Given the description of an element on the screen output the (x, y) to click on. 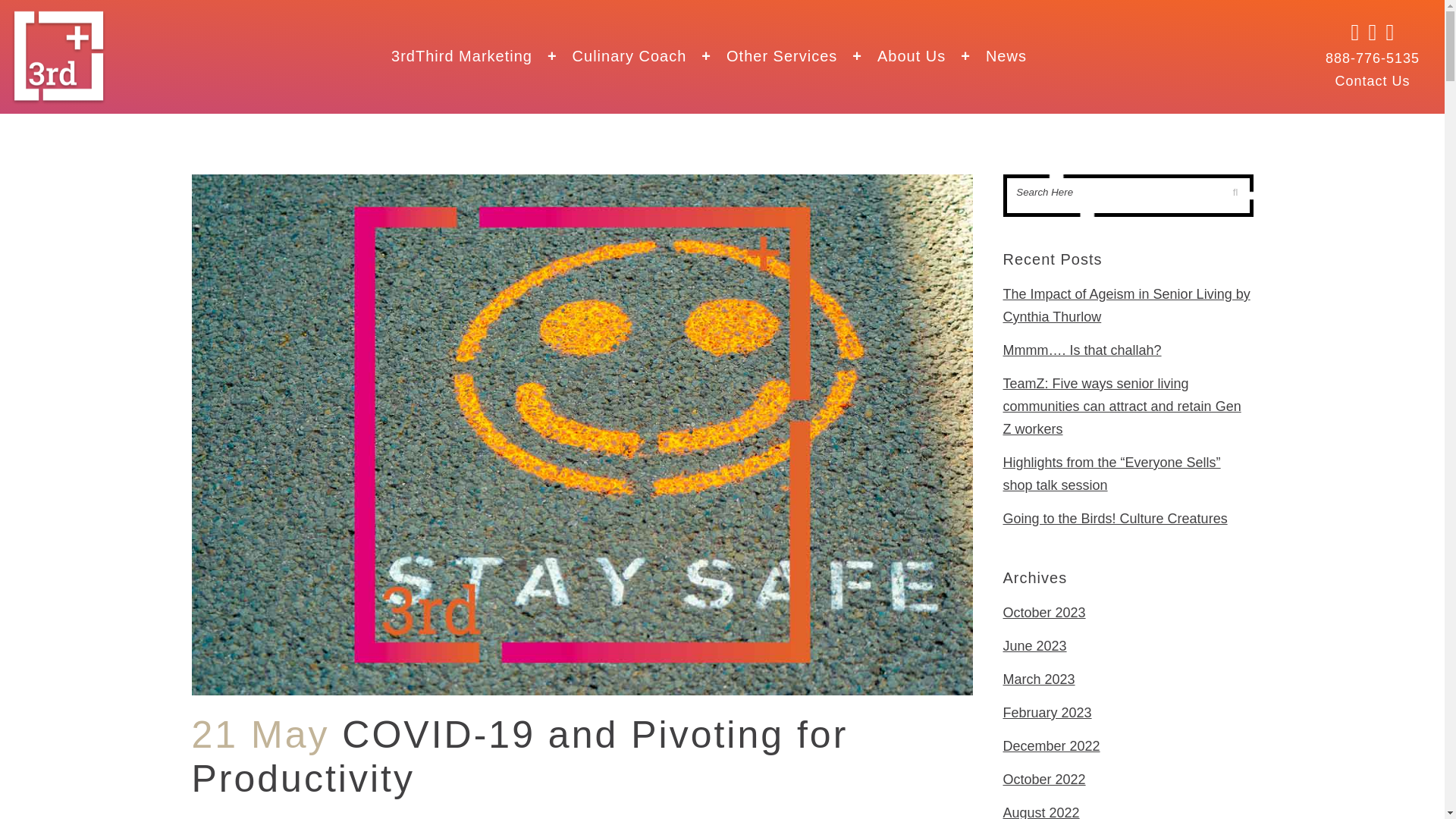
3rdThird Marketing (481, 56)
Contact Us (1372, 80)
888-776-5135 (1371, 58)
3rdThird Marketing (481, 56)
Culinary Coach (649, 56)
About Us (931, 56)
News (1005, 56)
Other Services (801, 56)
Culinary Coach (649, 56)
